Given the description of an element on the screen output the (x, y) to click on. 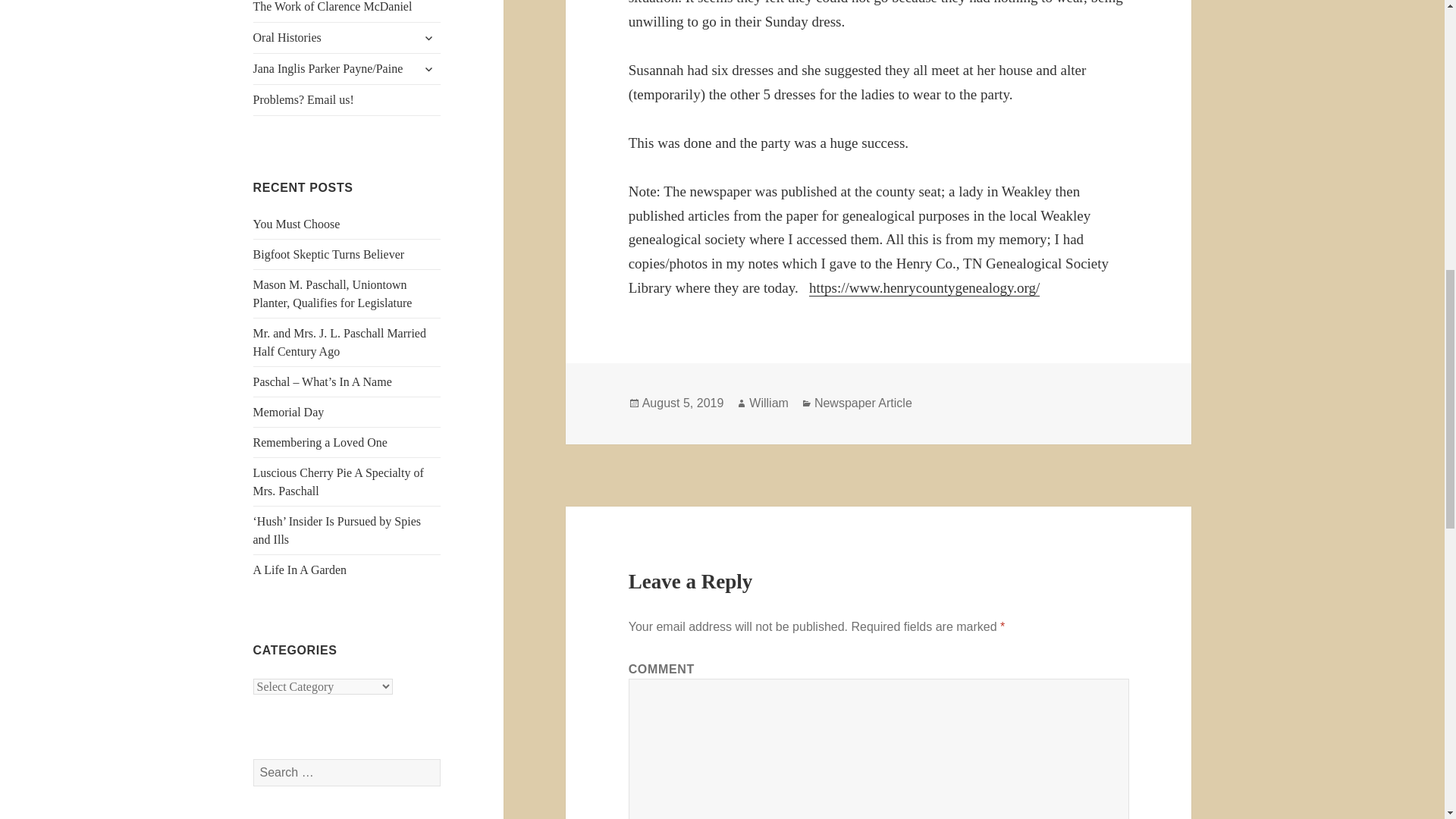
Oral Histories (347, 37)
You Must Choose (296, 223)
expand child menu (428, 68)
The Work of Clarence McDaniel (347, 11)
expand child menu (428, 37)
Bigfoot Skeptic Turns Believer (328, 254)
Problems? Email us! (347, 100)
